Given the description of an element on the screen output the (x, y) to click on. 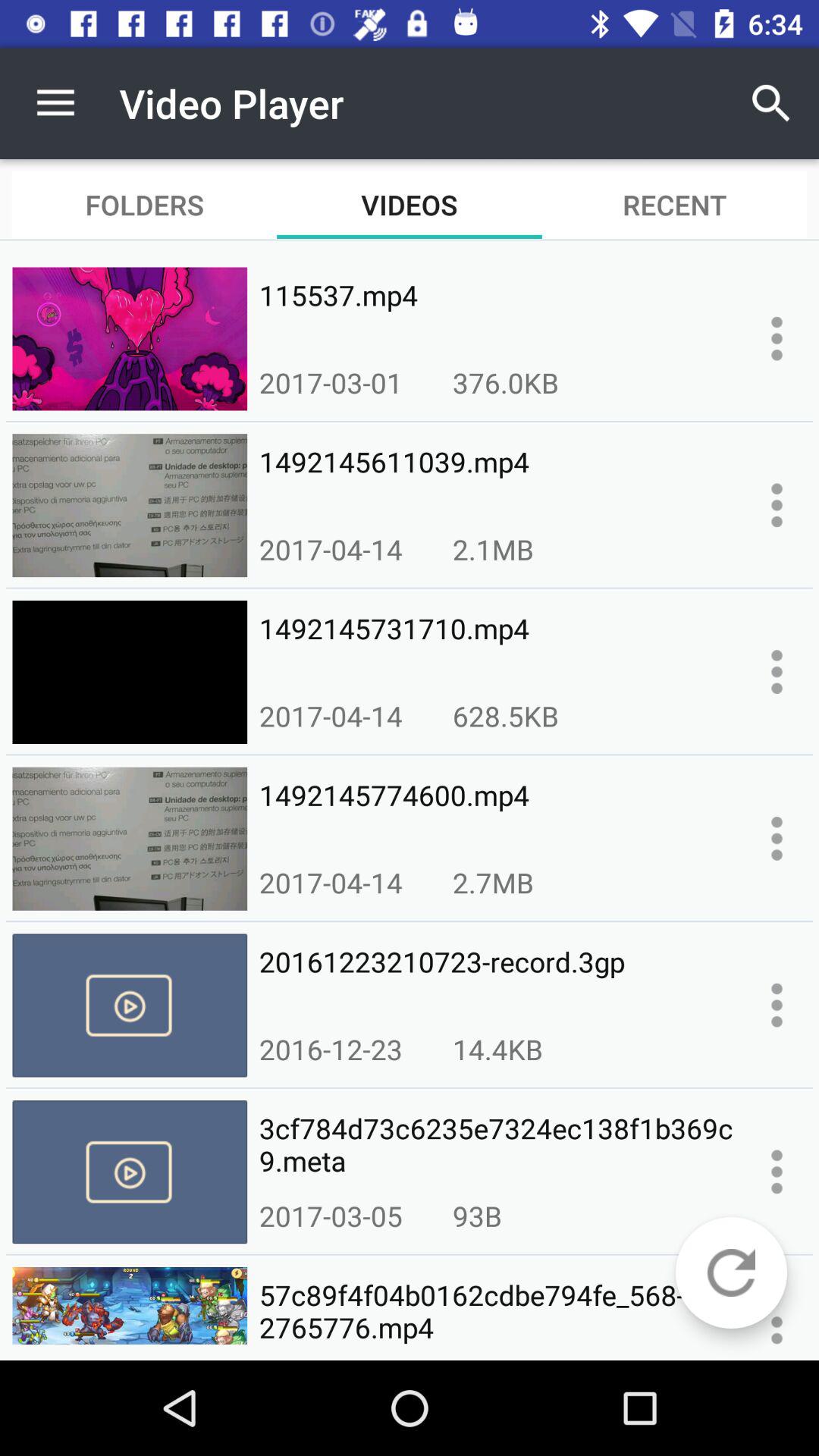
open icon above the folders item (55, 103)
